Given the description of an element on the screen output the (x, y) to click on. 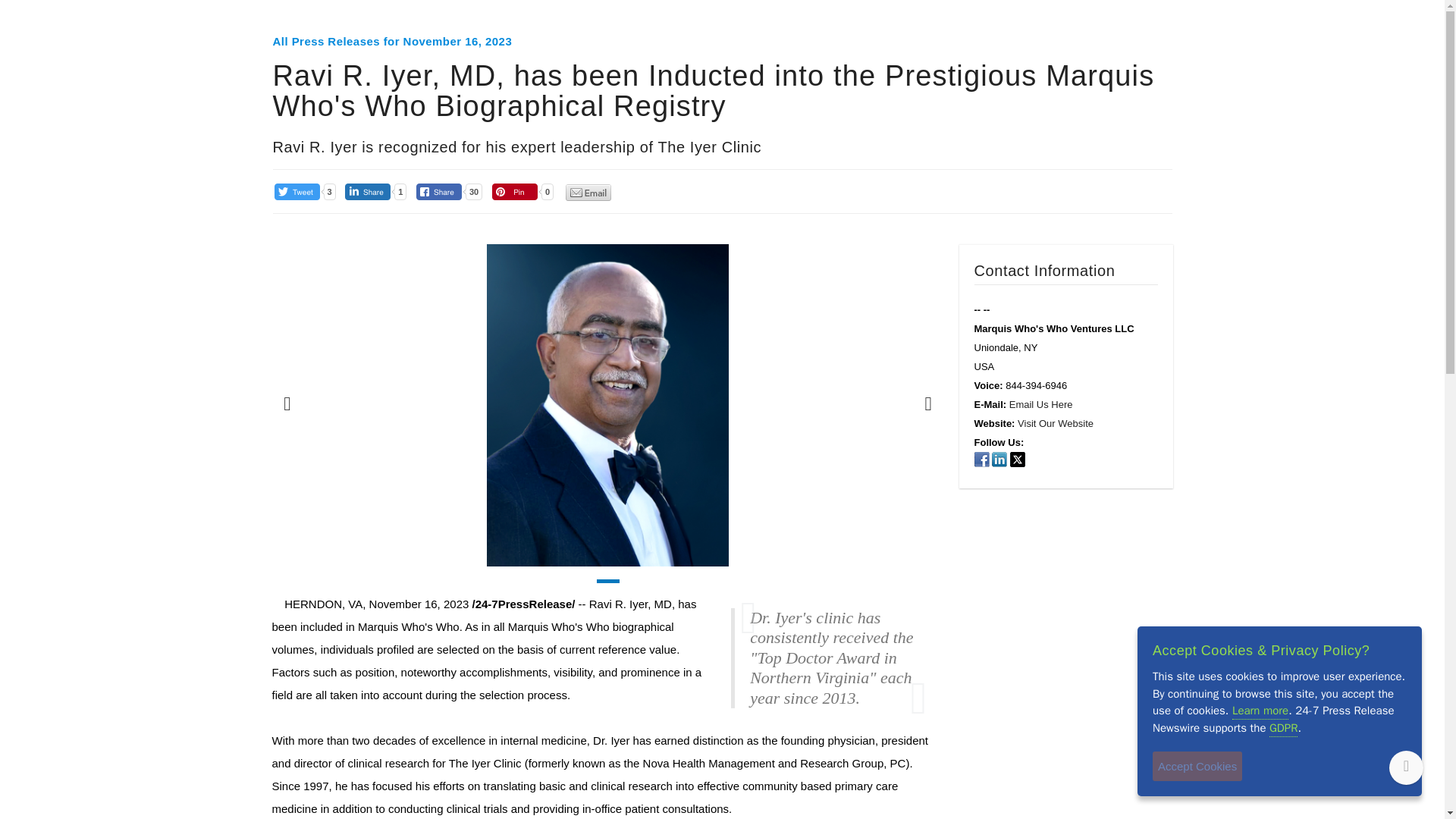
GDPR (1283, 728)
Learn more (1259, 711)
Email Us Here (1041, 404)
Accept Cookies (1197, 766)
All Press Releases for November 16, 2023 (392, 41)
Visit Our Website (1055, 423)
